Given the description of an element on the screen output the (x, y) to click on. 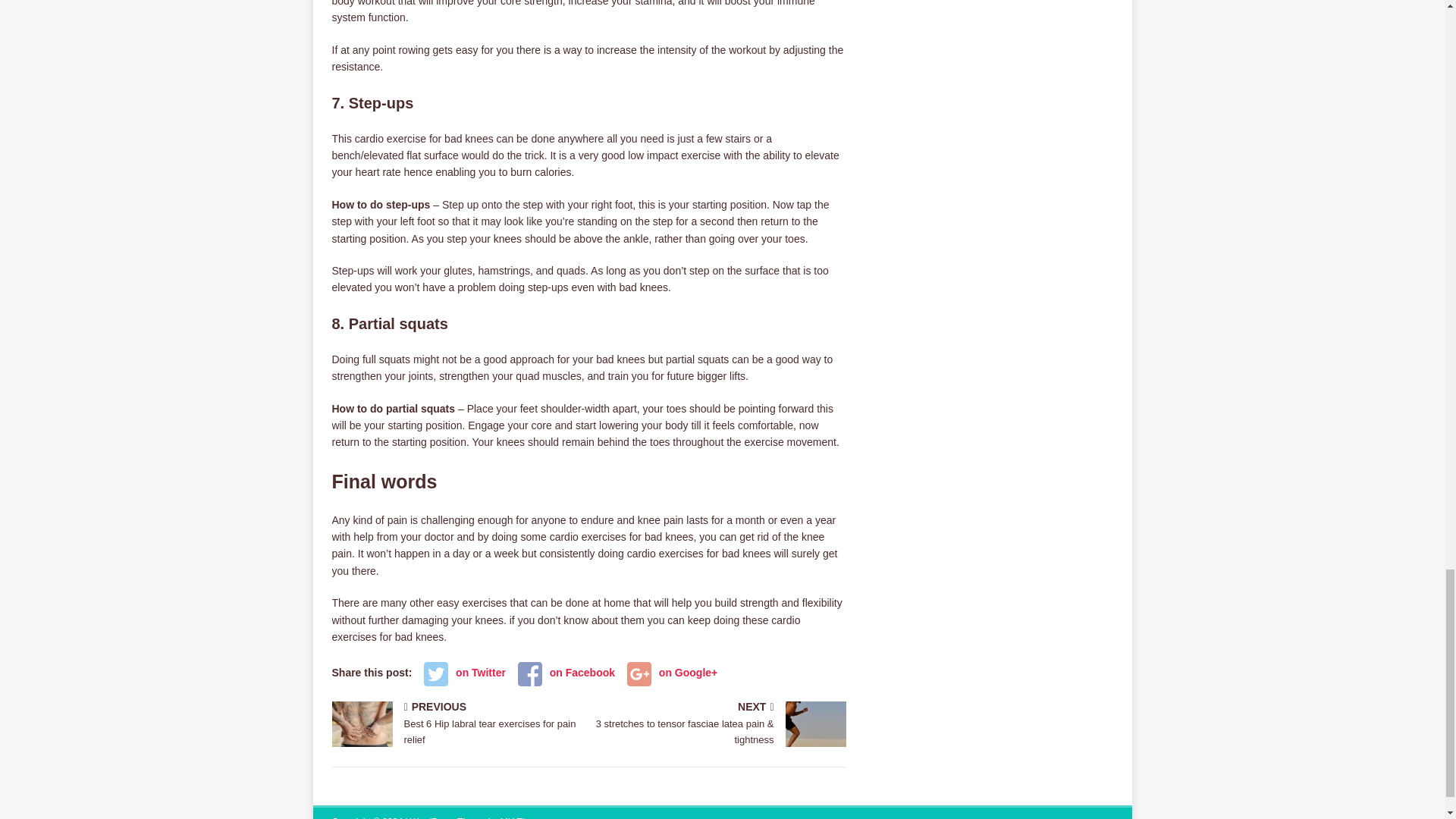
on Twitter (457, 724)
on Facebook (464, 672)
